Given the description of an element on the screen output the (x, y) to click on. 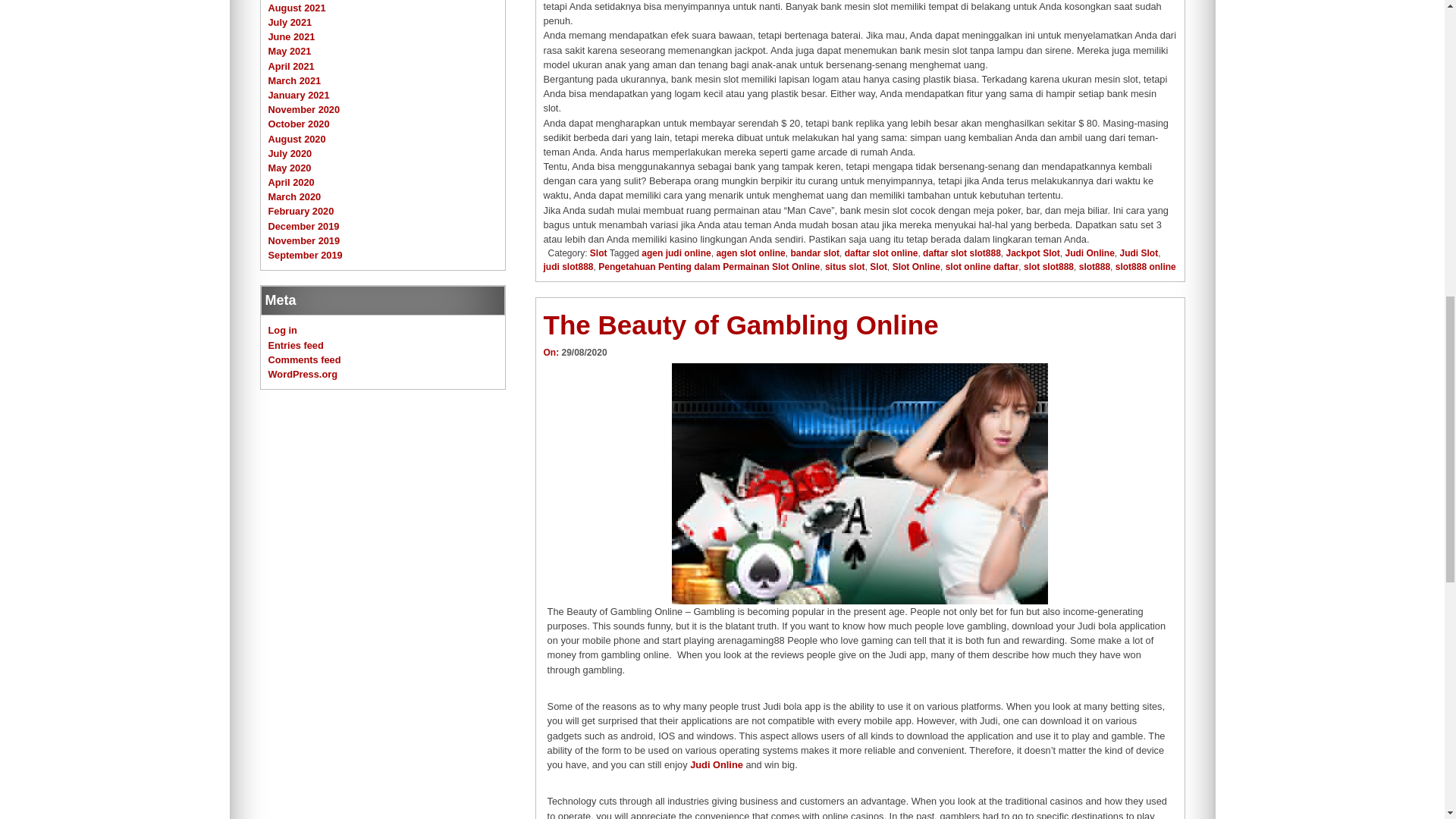
Slot Online (916, 266)
Judi Online (1090, 253)
slot888 online (1145, 266)
slot online daftar (981, 266)
judi slot888 (567, 266)
Slot (877, 266)
slot slot888 (1048, 266)
Slot (598, 253)
situs slot (844, 266)
Jackpot Slot (1032, 253)
Pengetahuan Penting dalam Permainan Slot Online (708, 266)
bandar slot (815, 253)
The Beauty of Gambling Online (740, 324)
Judi Online (716, 764)
agen slot online (750, 253)
